Given the description of an element on the screen output the (x, y) to click on. 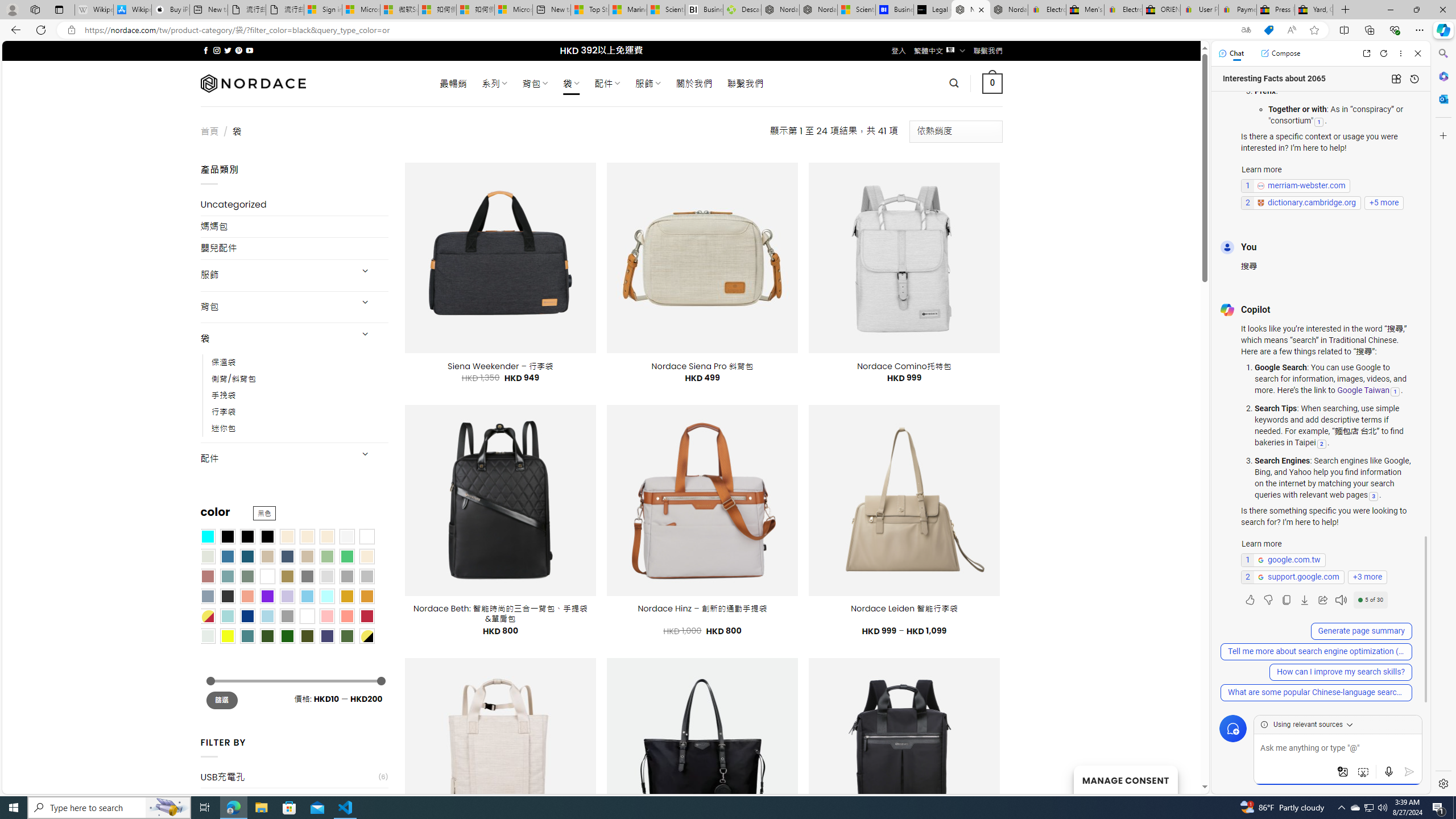
Follow on Pinterest (237, 50)
Chat (1231, 52)
Uncategorized (294, 204)
